Given the description of an element on the screen output the (x, y) to click on. 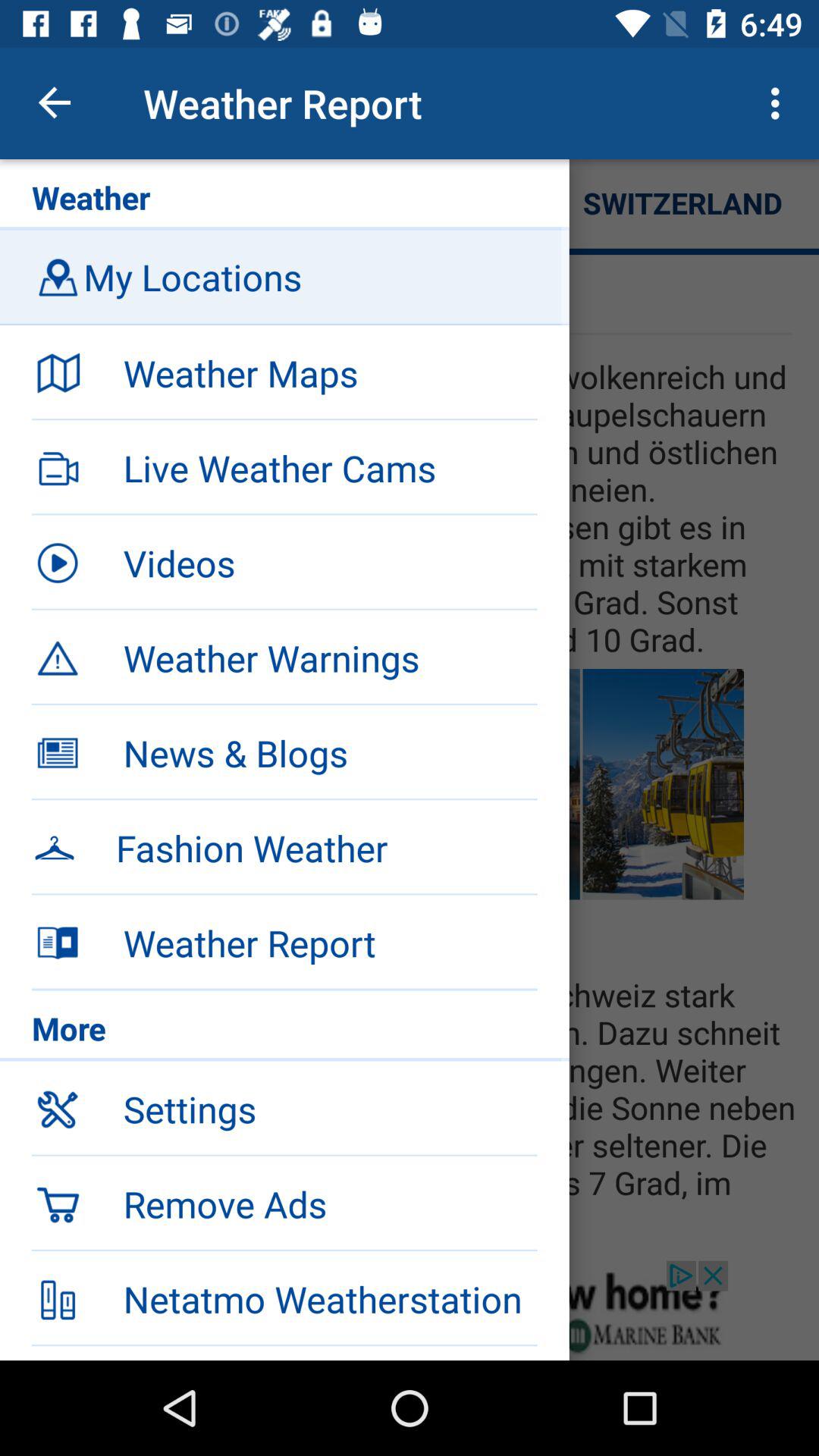
click the setting option (57, 1108)
click the weather warnings option (57, 657)
